Given the description of an element on the screen output the (x, y) to click on. 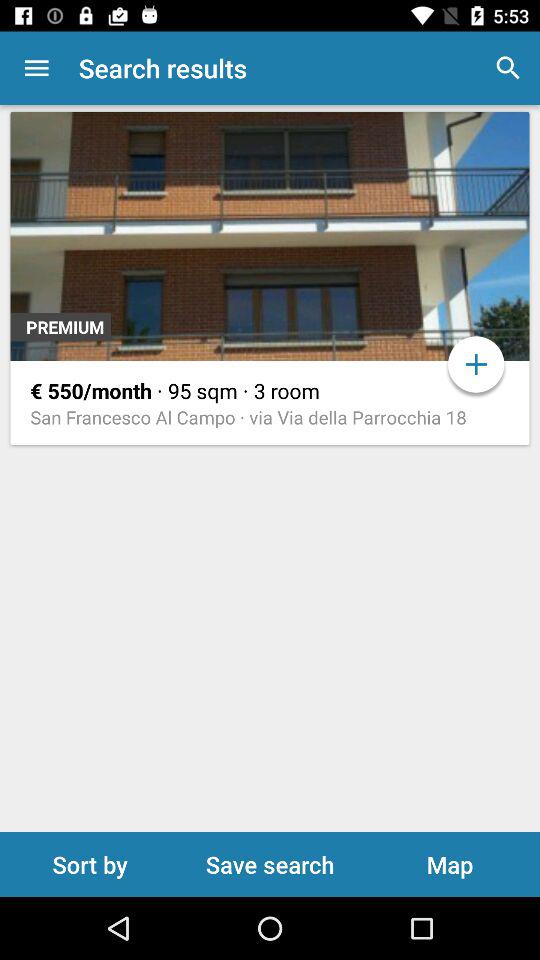
turn off icon at the bottom right corner (450, 863)
